Given the description of an element on the screen output the (x, y) to click on. 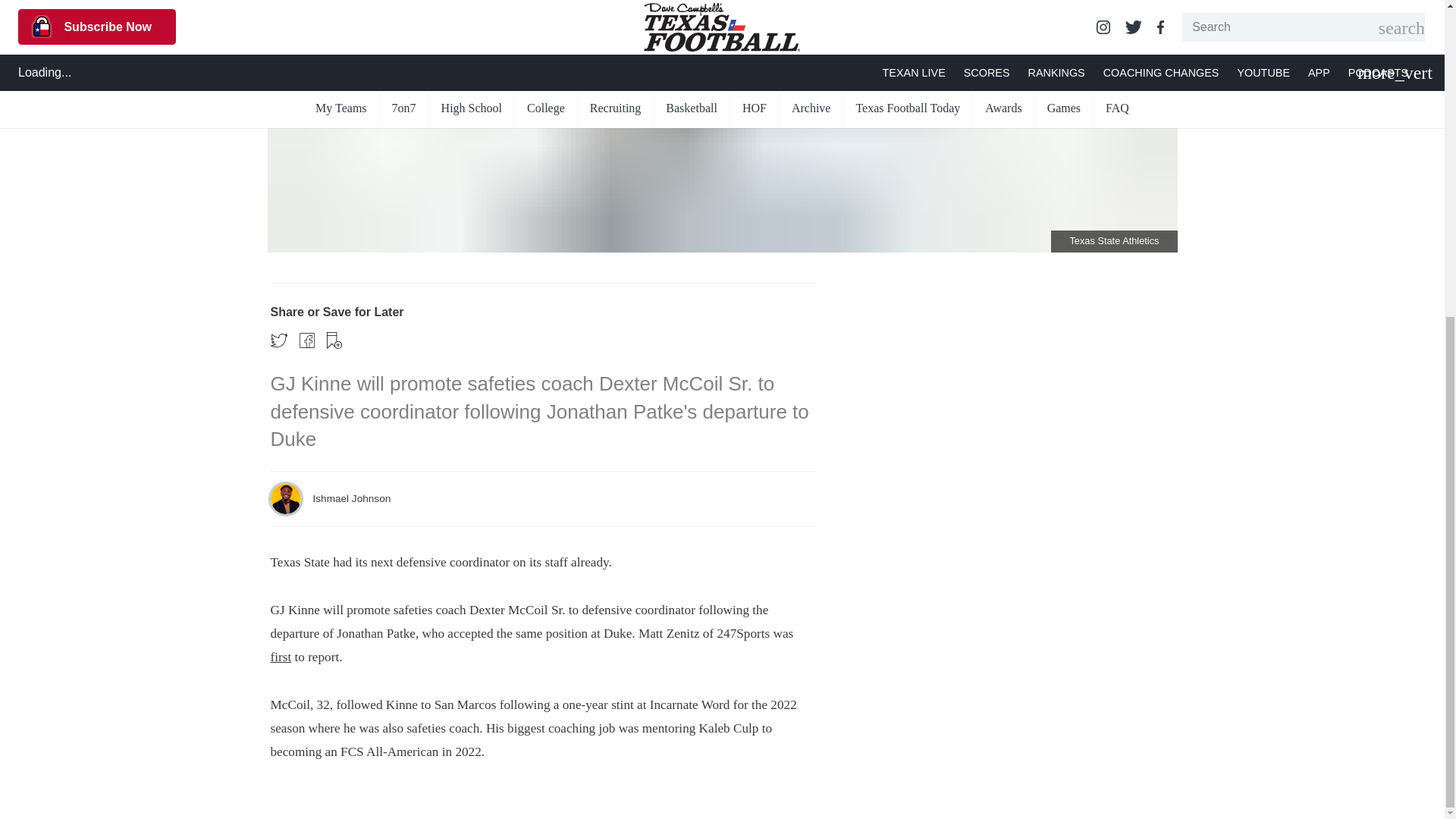
Save to Your Favorites (333, 340)
Share on Twitter (277, 340)
Share on Facebook (306, 340)
